Given the description of an element on the screen output the (x, y) to click on. 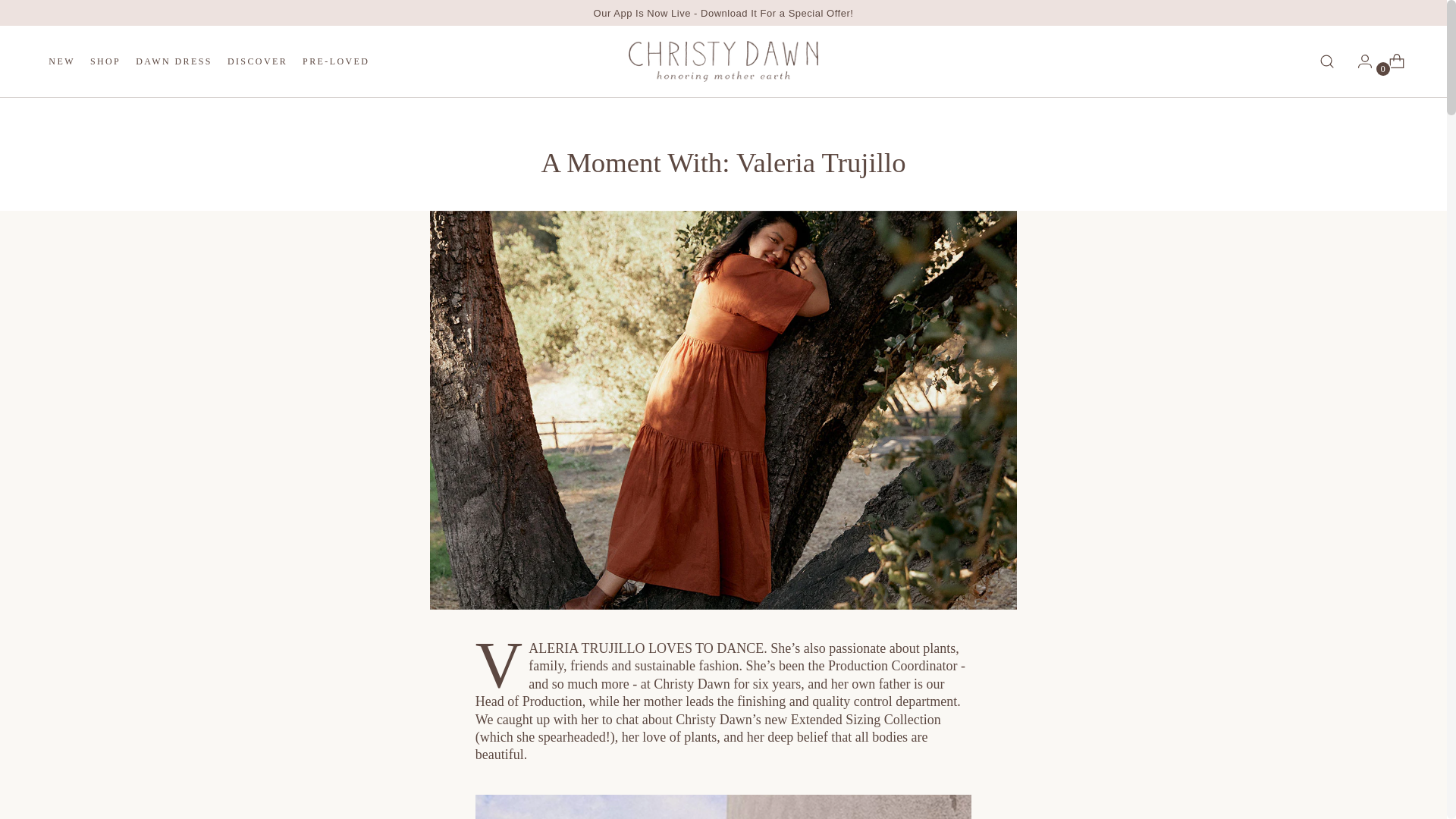
PRE-LOVED (335, 61)
DAWN DRESS (173, 61)
Our App Is Now Live - Download It For a Special Offer! (723, 12)
DISCOVER (208, 61)
SHOP (256, 61)
